Given the description of an element on the screen output the (x, y) to click on. 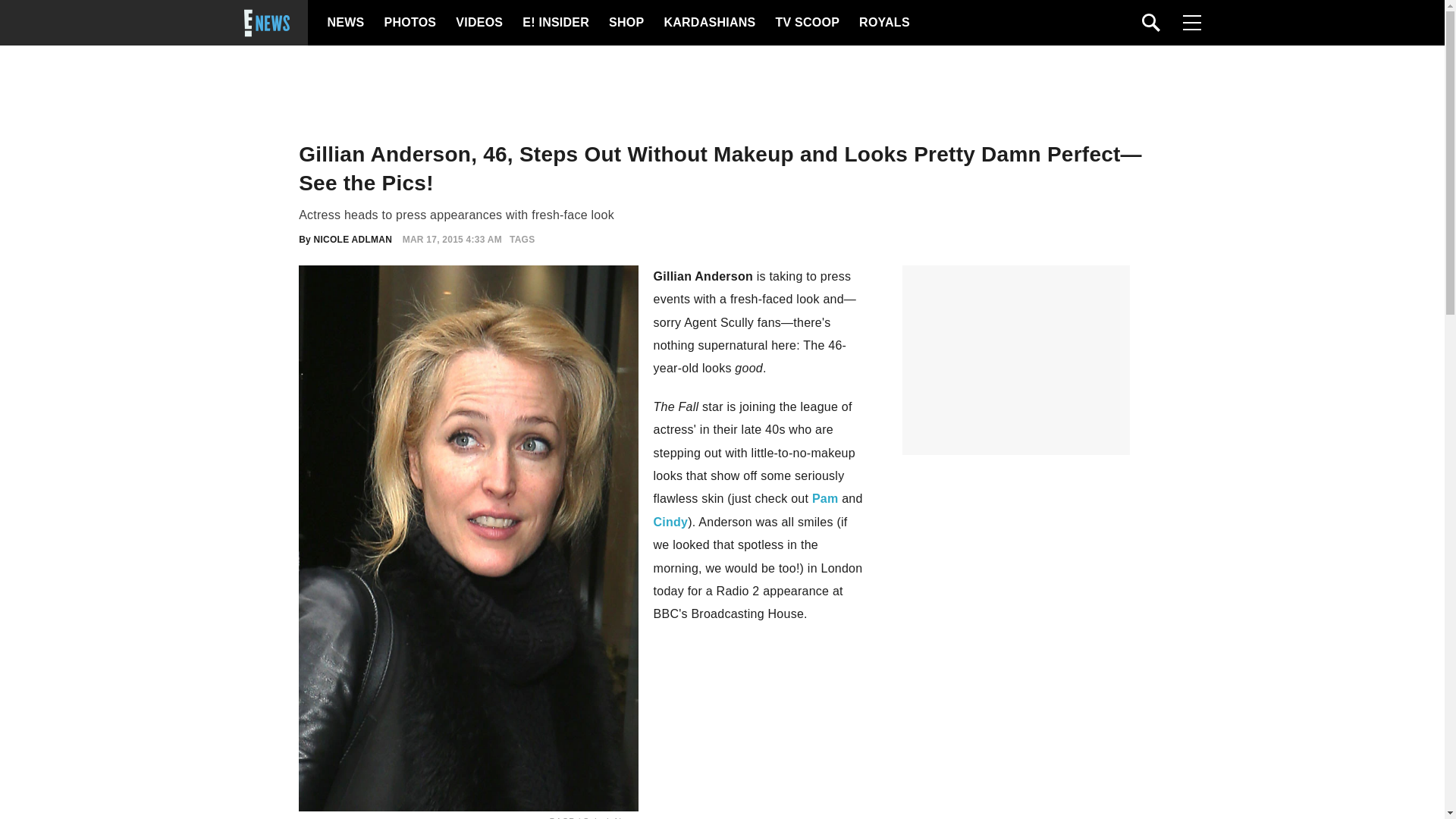
KARDASHIANS (708, 22)
Cindy (670, 521)
E! INSIDER (555, 22)
NICOLE ADLMAN (352, 239)
PHOTOS (408, 22)
SHOP (625, 22)
Pam (825, 498)
TV SCOOP (806, 22)
ROYALS (883, 22)
VIDEOS (478, 22)
